Given the description of an element on the screen output the (x, y) to click on. 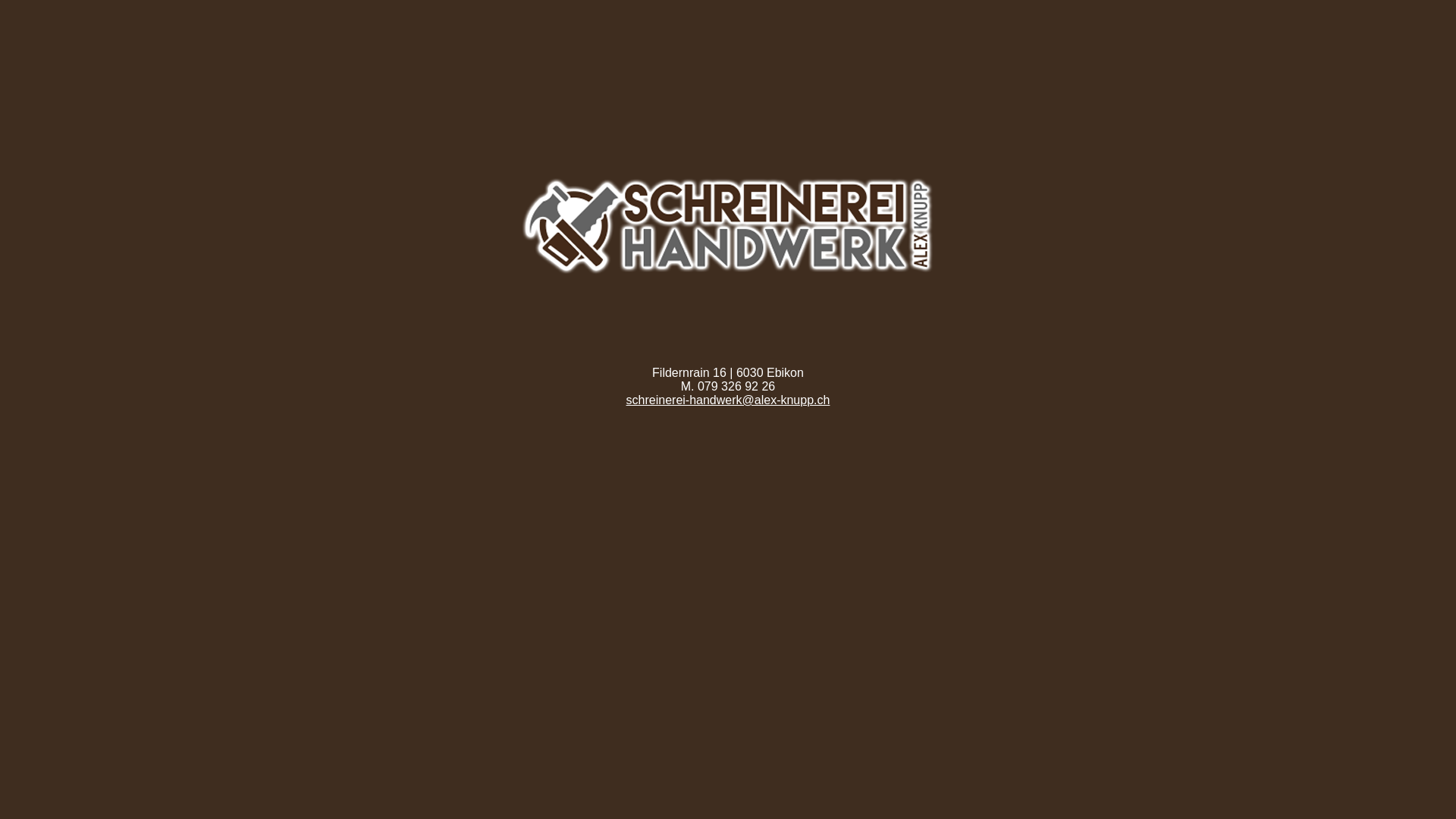
schreinerei-handwerk@alex-knupp.ch Element type: text (728, 399)
